Given the description of an element on the screen output the (x, y) to click on. 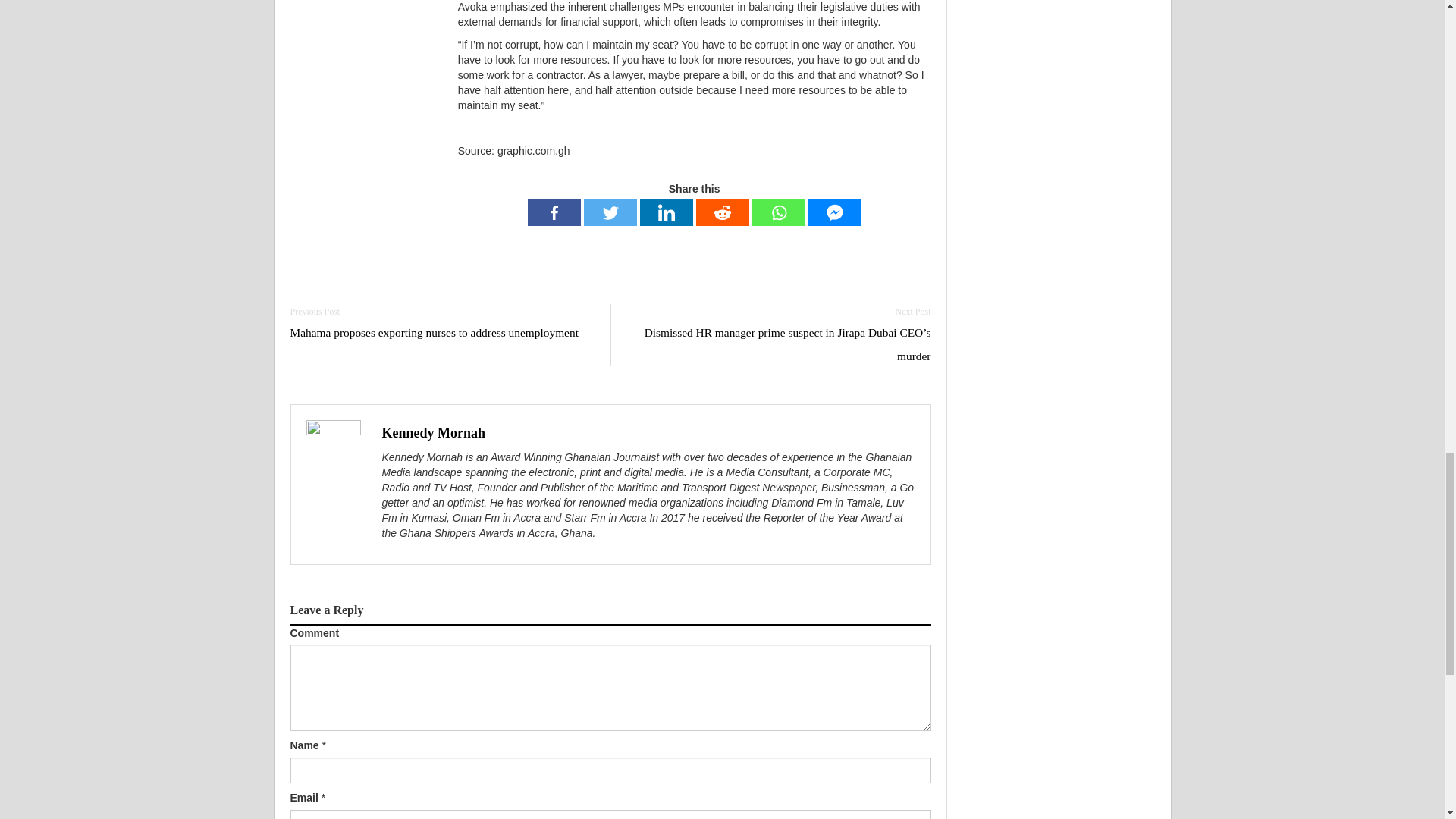
Reddit (722, 212)
Whatsapp (778, 212)
Linkedin (666, 212)
Twitter (610, 212)
Facebook (553, 212)
Posts by Kennedy Mornah (433, 432)
